Given the description of an element on the screen output the (x, y) to click on. 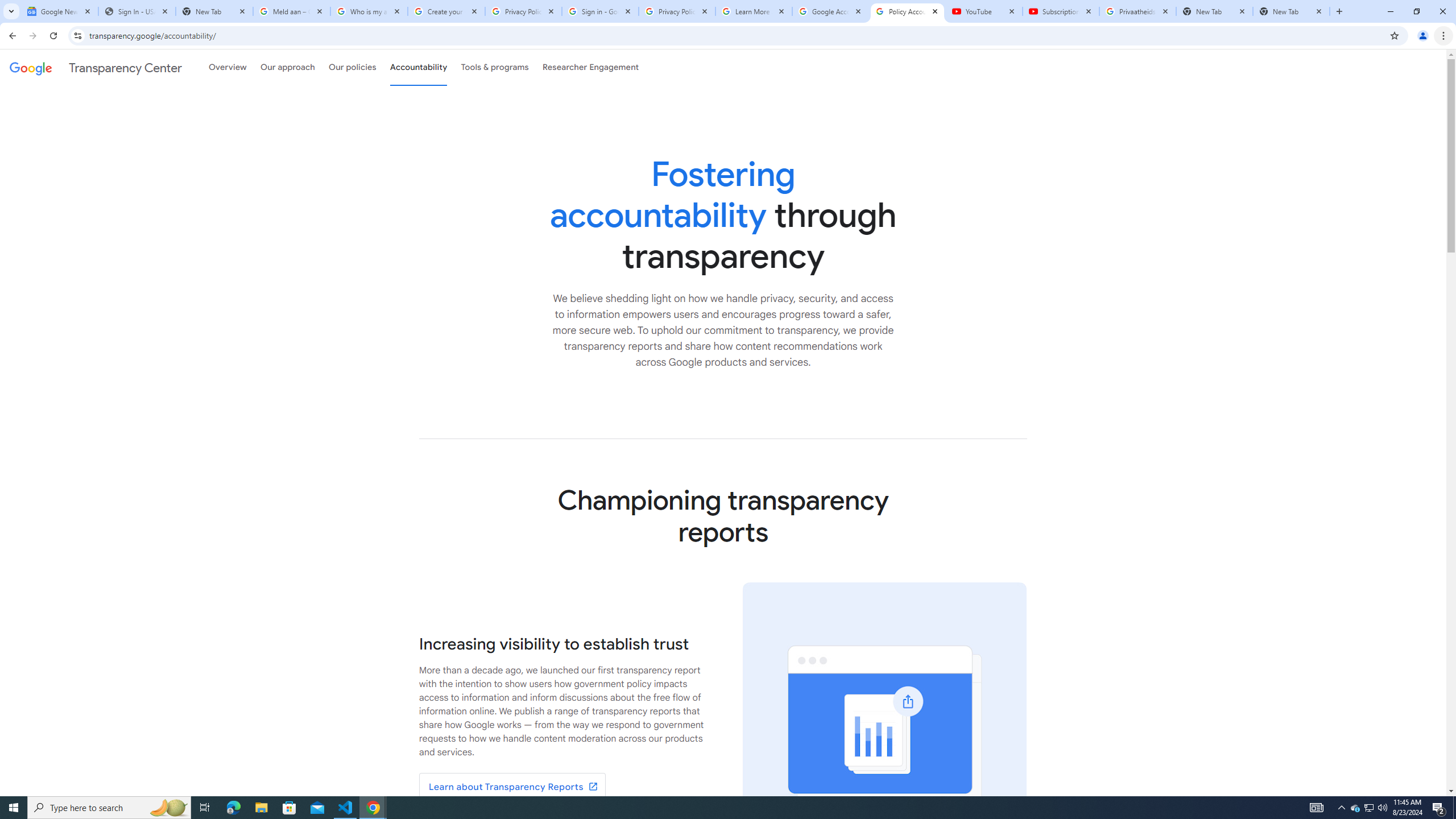
Our policies (351, 67)
Sign In - USA TODAY (136, 11)
Policy Accountability and Transparency - Transparency Center (906, 11)
Go to Transparency Report About web page (512, 786)
Tools & programs (494, 67)
